Given the description of an element on the screen output the (x, y) to click on. 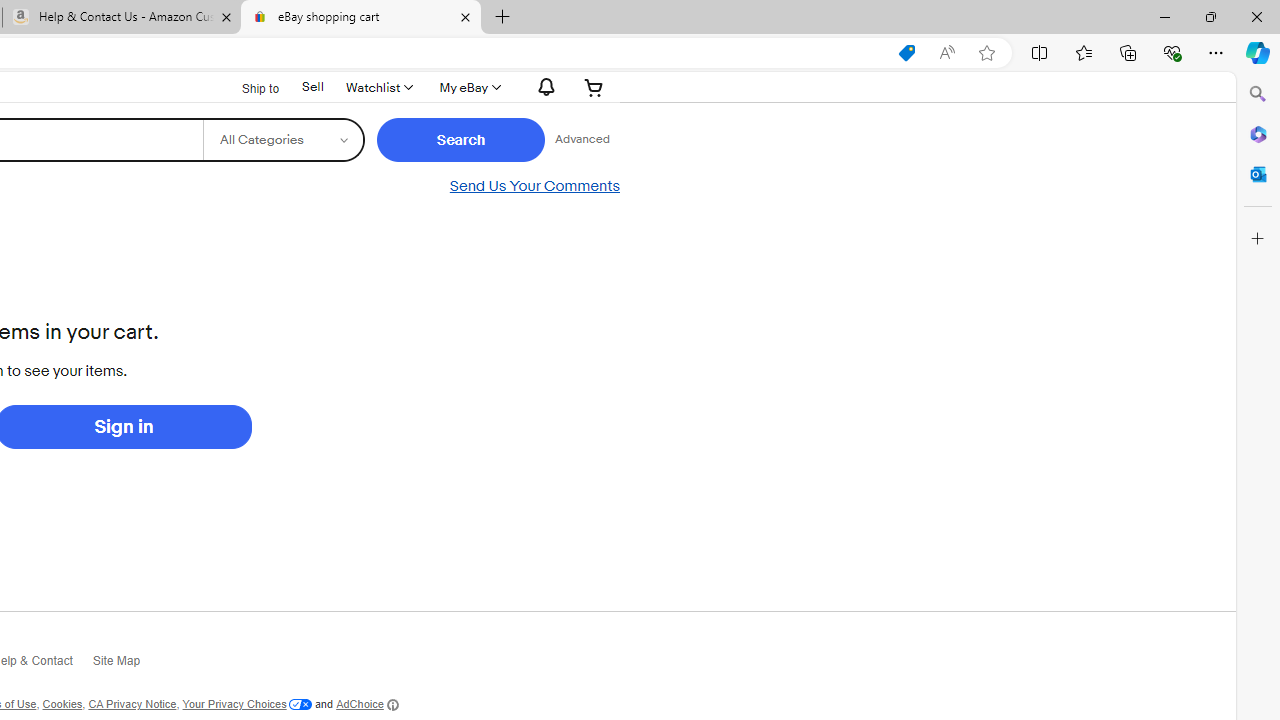
Customize (1258, 239)
Cookies (62, 704)
Sell (312, 87)
Site Map (126, 665)
Site Map (126, 664)
Select a category for search (282, 139)
Send Us Your Comments - opens in new window or tab (534, 186)
Notifications (541, 87)
Ship to (248, 85)
CA Privacy Notice (132, 704)
